Given the description of an element on the screen output the (x, y) to click on. 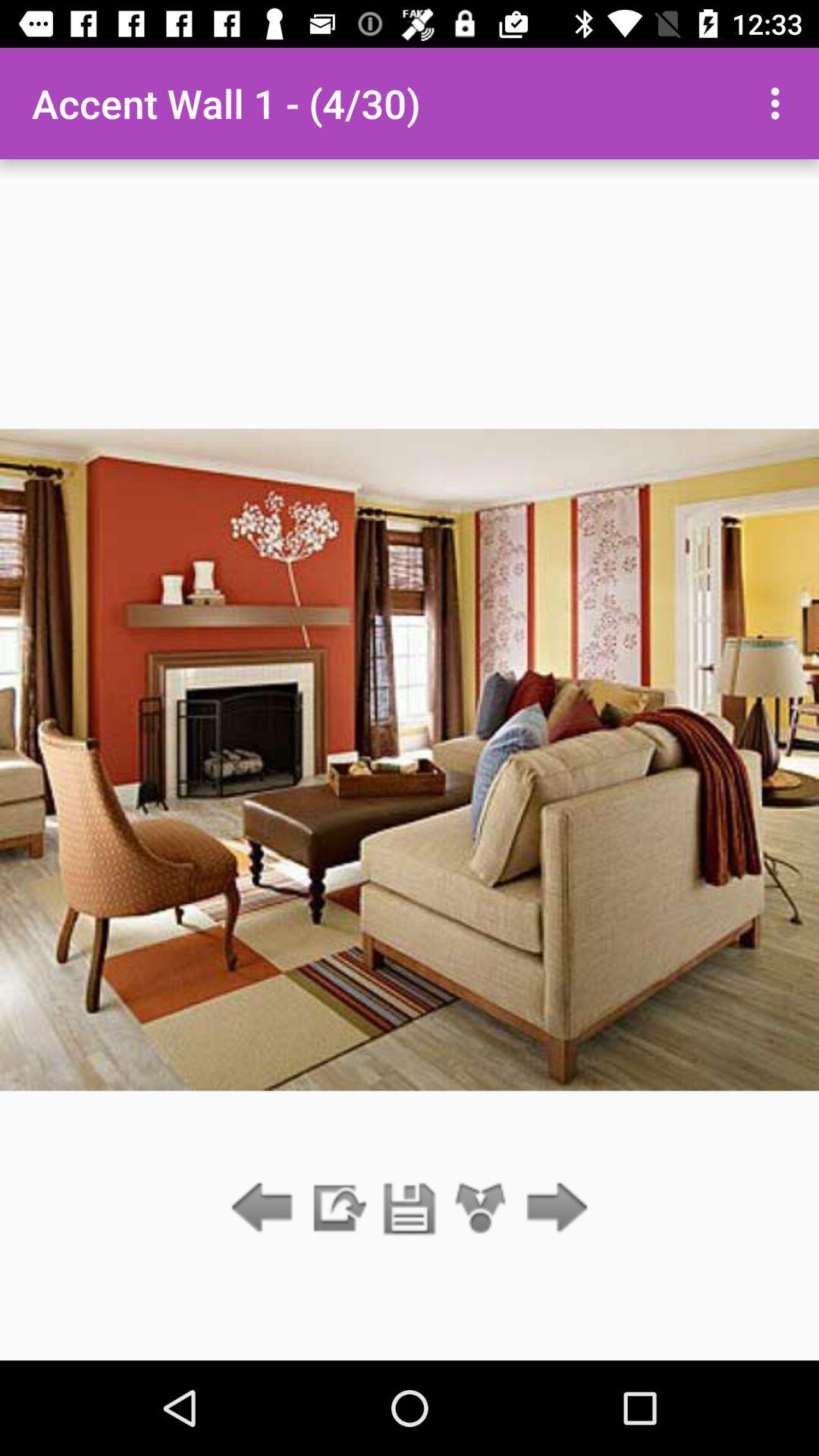
launch the app to the right of accent wall 1 icon (779, 103)
